Given the description of an element on the screen output the (x, y) to click on. 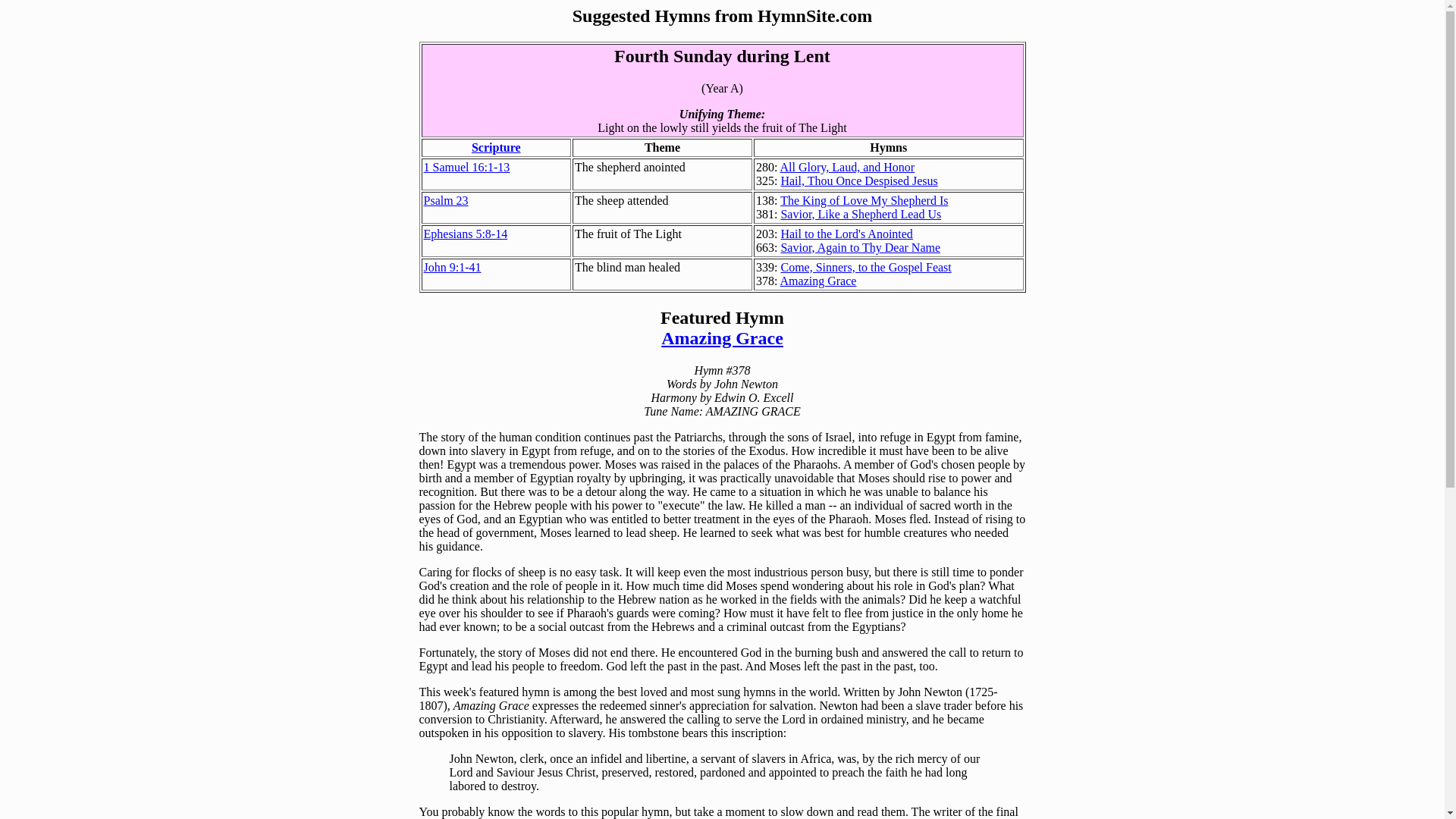
1 Samuel 16:1-13 (466, 166)
All Glory, Laud, and Honor (847, 166)
Hail, Thou Once Despised Jesus (858, 180)
Scripture (496, 146)
Savior, Like a Shepherd Lead Us (860, 214)
The King of Love My Shepherd Is (863, 200)
Hail to the Lord's Anointed (846, 233)
Savior, Again to Thy Dear Name (860, 246)
Psalm 23 (445, 200)
John 9:1-41 (451, 267)
Amazing Grace (818, 280)
Ephesians 5:8-14 (464, 233)
Come, Sinners, to the Gospel Feast (865, 267)
Featured Hymn (722, 317)
Amazing Grace (722, 338)
